Given the description of an element on the screen output the (x, y) to click on. 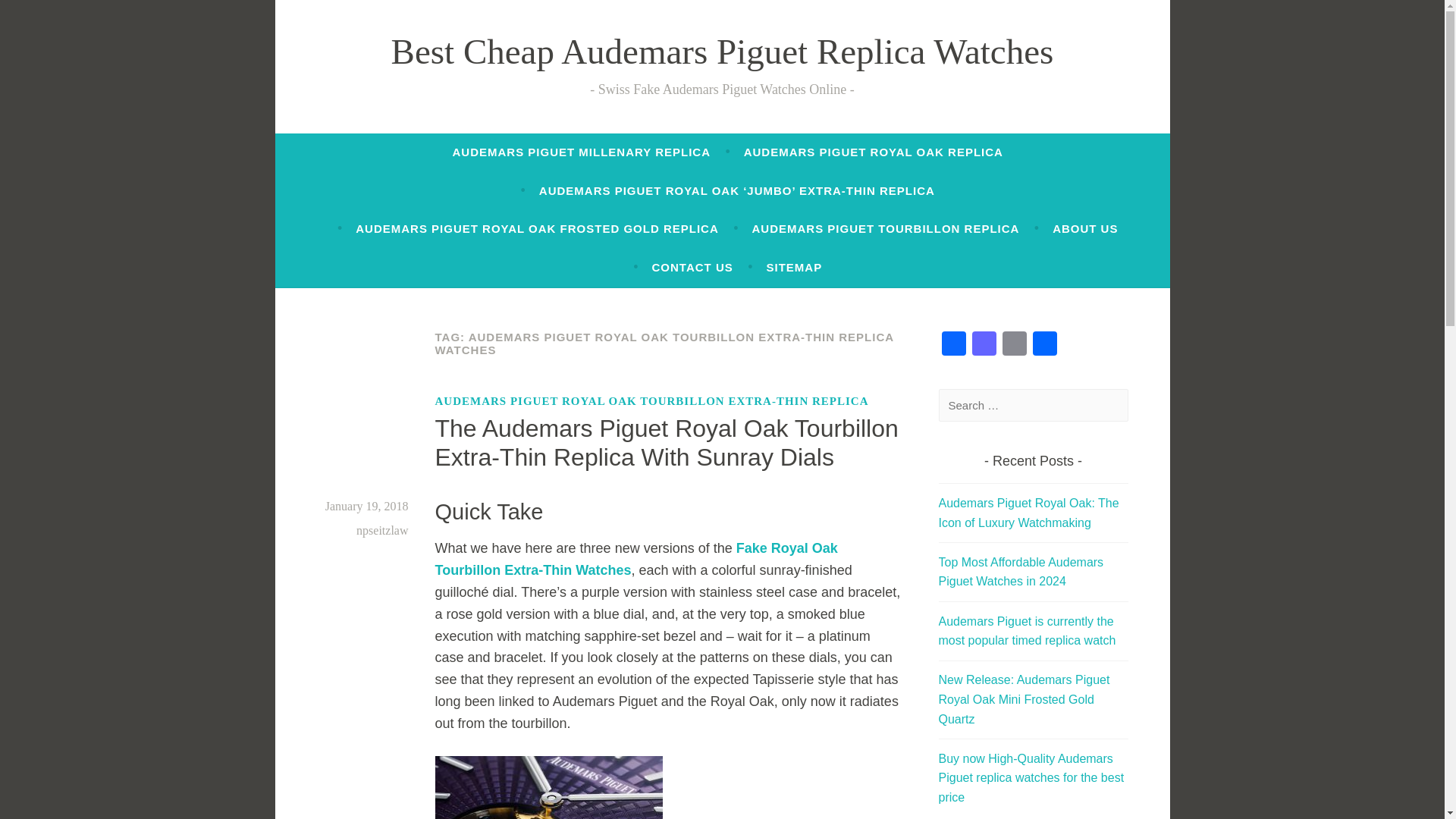
Email (1013, 345)
Fake Royal Oak Tourbillon Extra-Thin Watches (636, 559)
AUDEMARS PIGUET MILLENARY REPLICA (580, 152)
ABOUT US (1085, 228)
Best Cheap Audemars Piguet Replica Watches (722, 51)
CONTACT US (692, 267)
Share (1044, 345)
Email (1013, 345)
npseitzlaw (381, 529)
January 19, 2018 (366, 504)
AUDEMARS PIGUET ROYAL OAK TOURBILLON EXTRA-THIN REPLICA (652, 401)
